Given the description of an element on the screen output the (x, y) to click on. 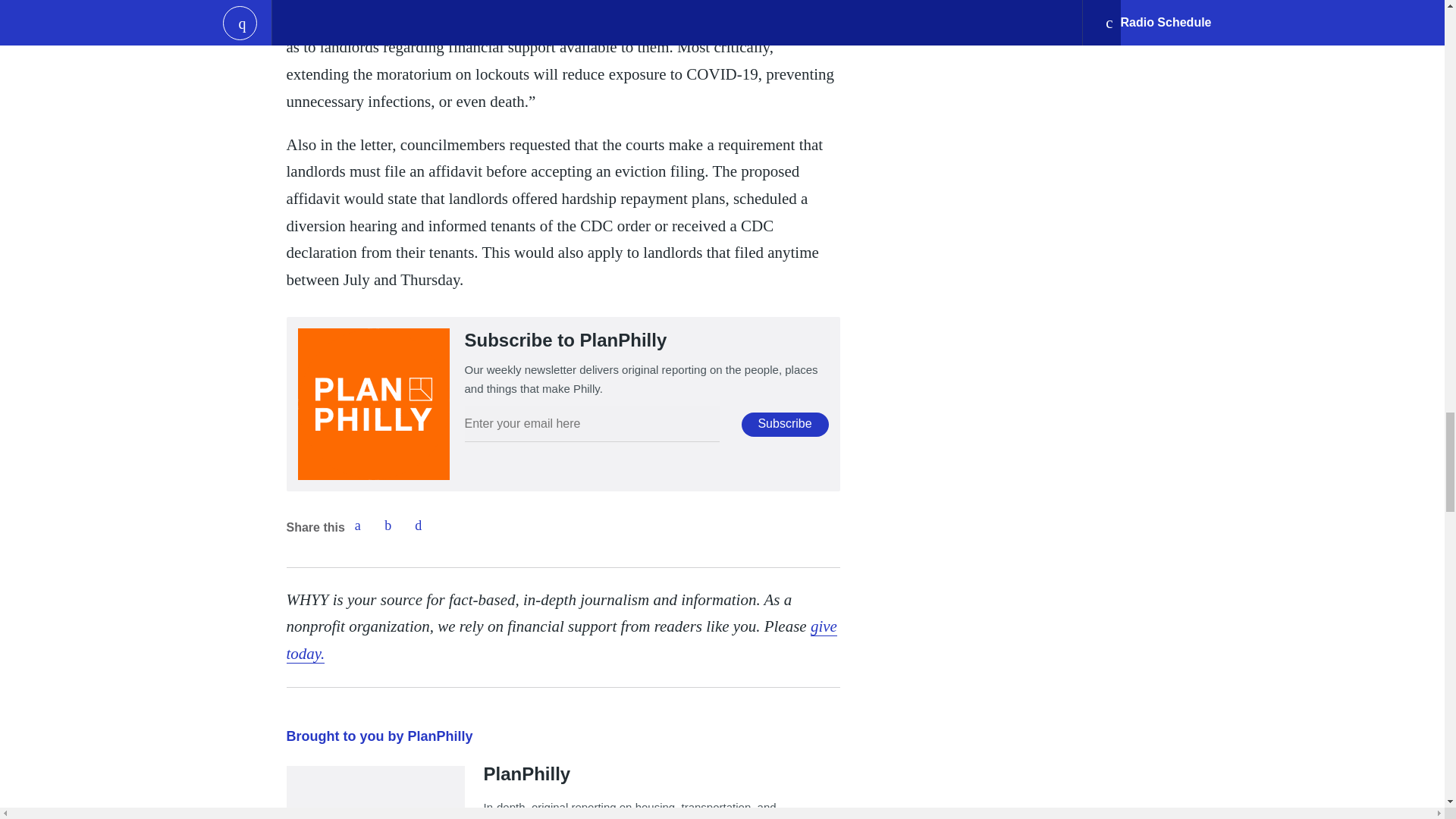
Email (418, 525)
Subscribe (784, 424)
Twitter (387, 525)
Facebook (357, 525)
